Given the description of an element on the screen output the (x, y) to click on. 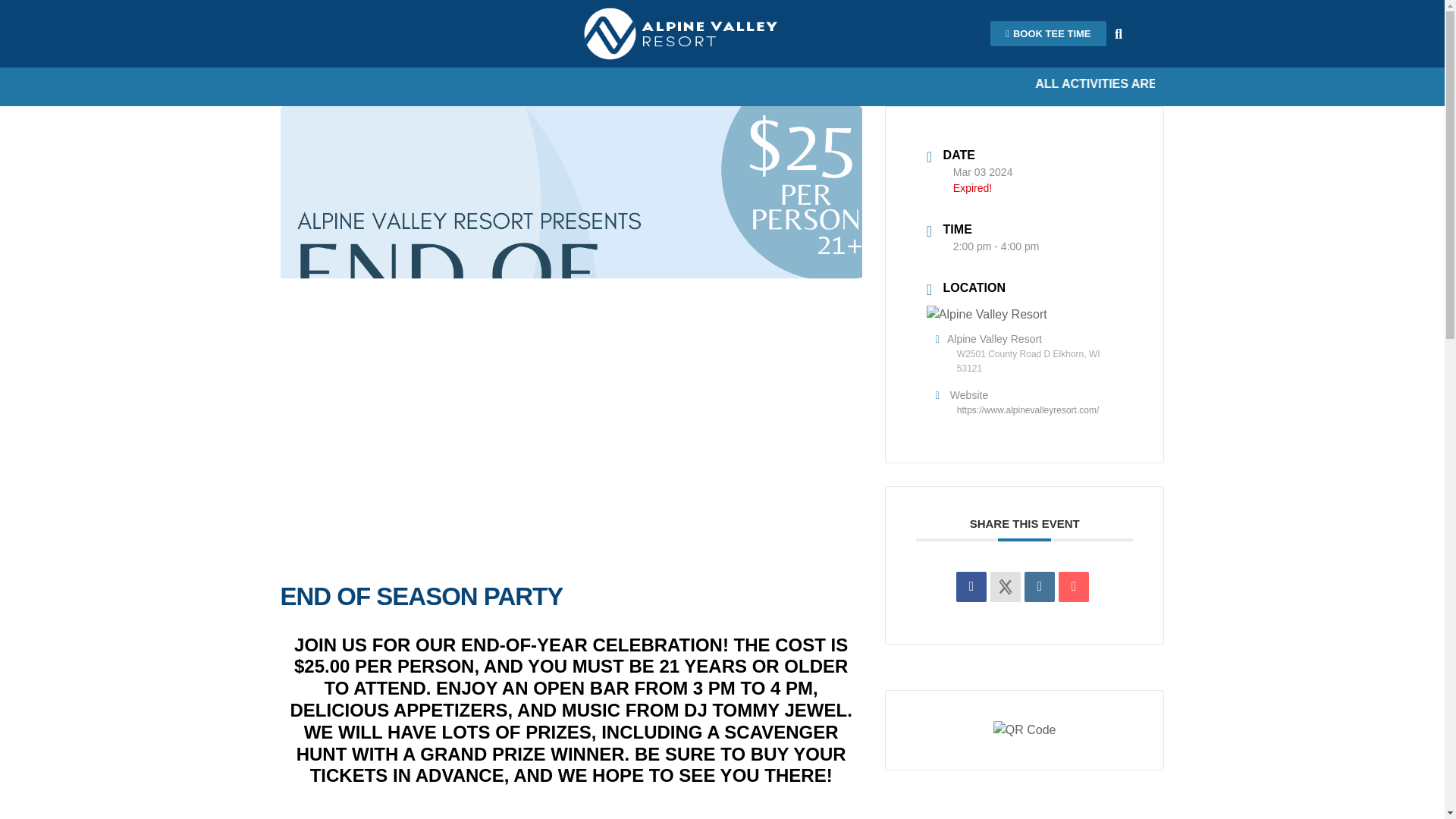
X Social Network (1005, 586)
Email (1073, 586)
Linkedin (1039, 586)
Share on Facebook (971, 586)
BOOK TEE TIME (1047, 33)
